Given the description of an element on the screen output the (x, y) to click on. 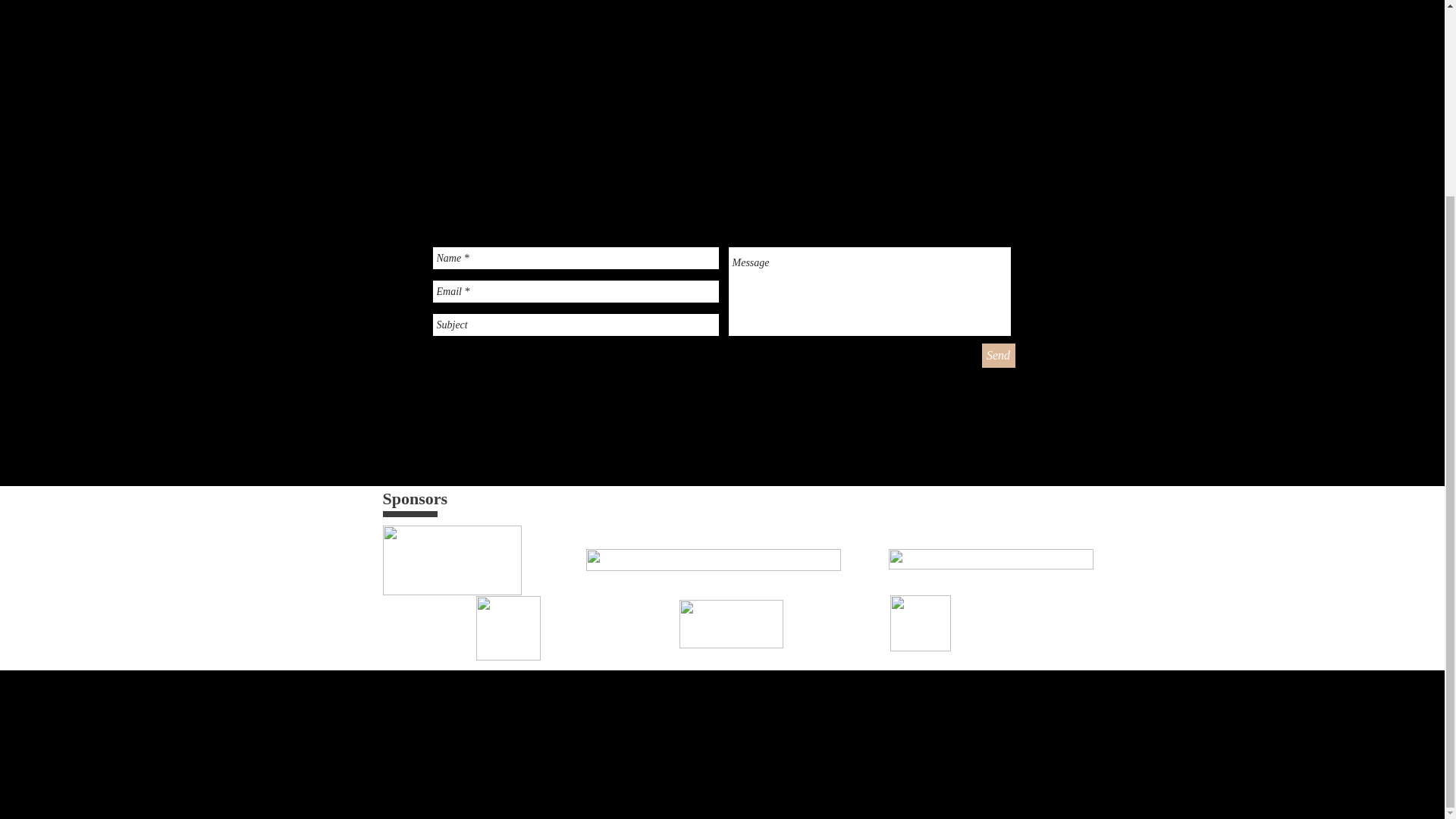
Screen Shot 2016-01-06 at 1.57.11 PM.png (990, 558)
Send (997, 355)
DreamStudios - Black.png (451, 560)
Screen Shot 2016-01-06 at 1.59.10 PM.png (919, 623)
Screen Shot 2015-12-30 at 3.31.51 PM.png (712, 559)
LI Cares.jpg (731, 623)
inner cirlce.png (508, 628)
